Given the description of an element on the screen output the (x, y) to click on. 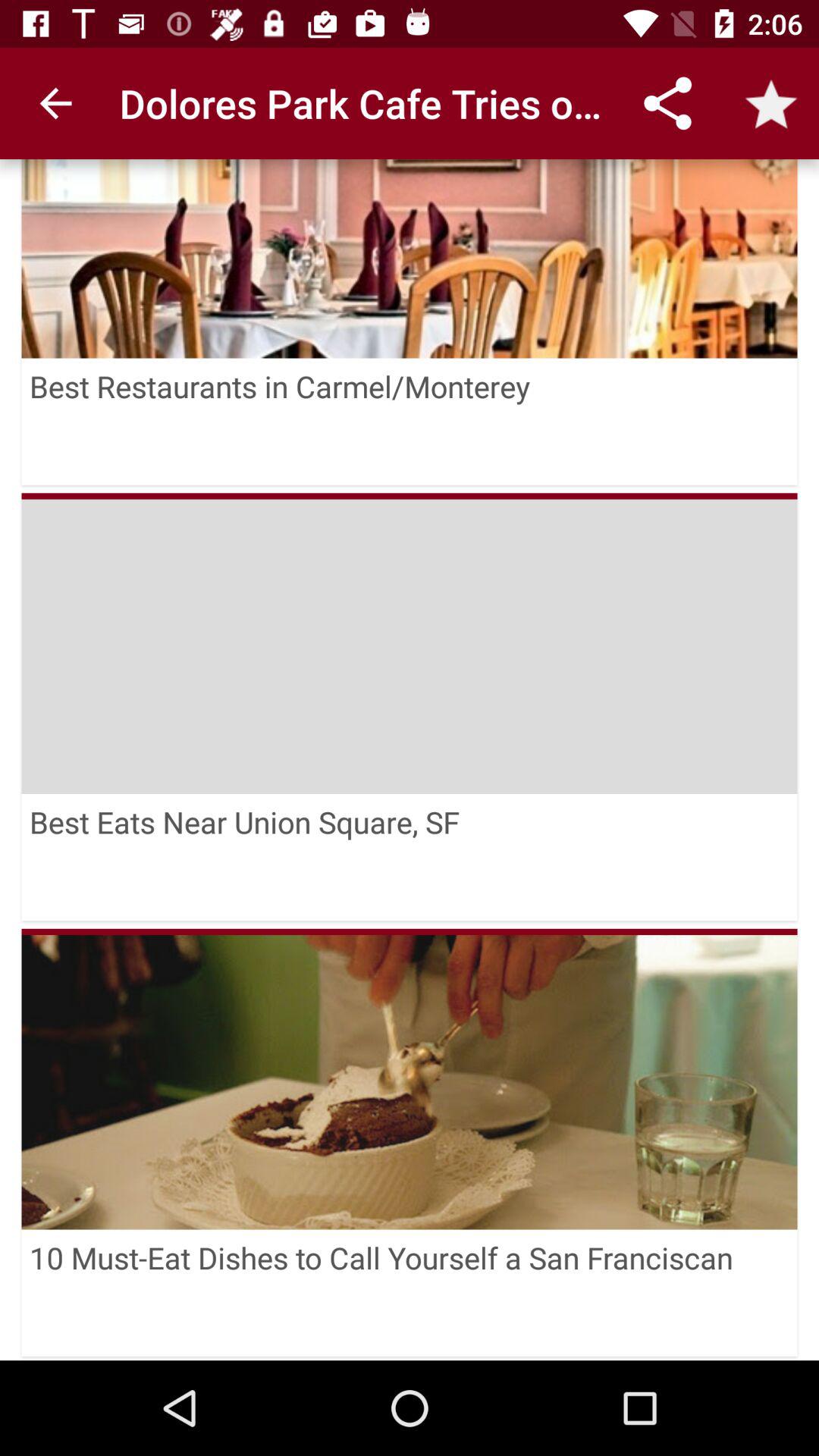
open the icon at the top left corner (55, 103)
